Given the description of an element on the screen output the (x, y) to click on. 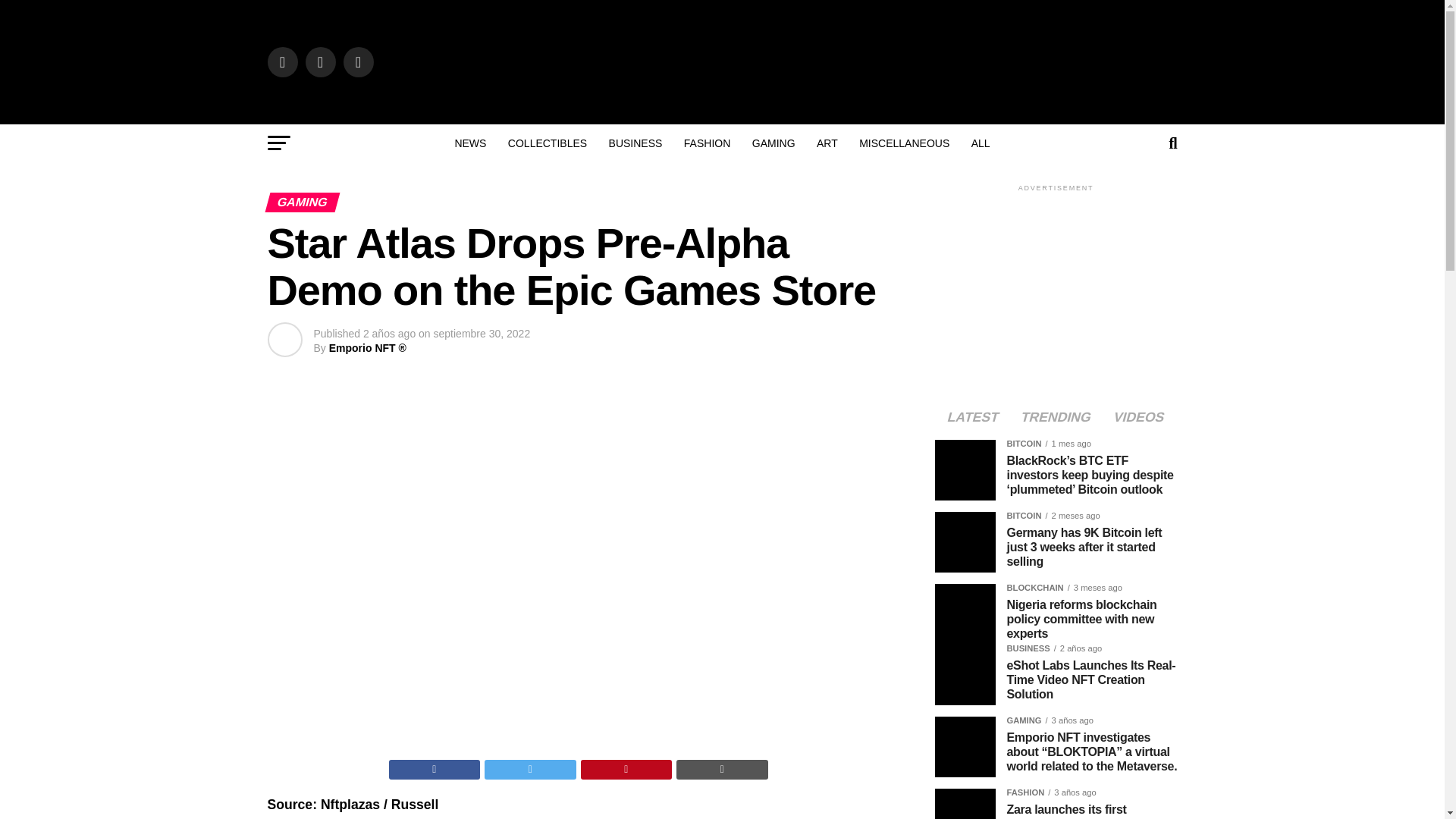
NEWS (470, 143)
FASHION (707, 143)
GAMING (773, 143)
COLLECTIBLES (547, 143)
BUSINESS (635, 143)
